Given the description of an element on the screen output the (x, y) to click on. 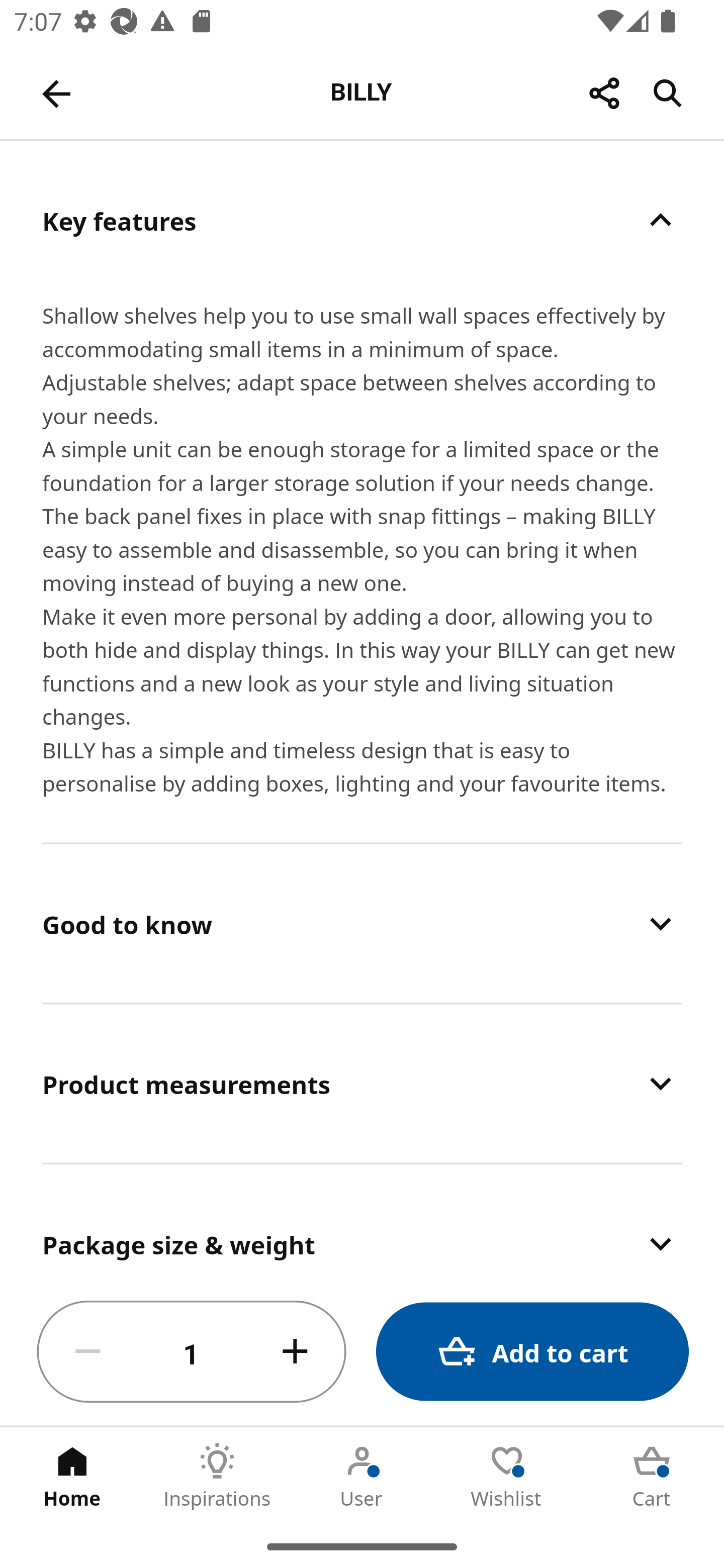
Key features (361, 219)
Good to know (361, 923)
Product measurements (361, 1083)
Package size & weight (361, 1221)
Add to cart (531, 1352)
1 (191, 1352)
Home
Tab 1 of 5 (72, 1476)
Inspirations
Tab 2 of 5 (216, 1476)
User
Tab 3 of 5 (361, 1476)
Wishlist
Tab 4 of 5 (506, 1476)
Cart
Tab 5 of 5 (651, 1476)
